Given the description of an element on the screen output the (x, y) to click on. 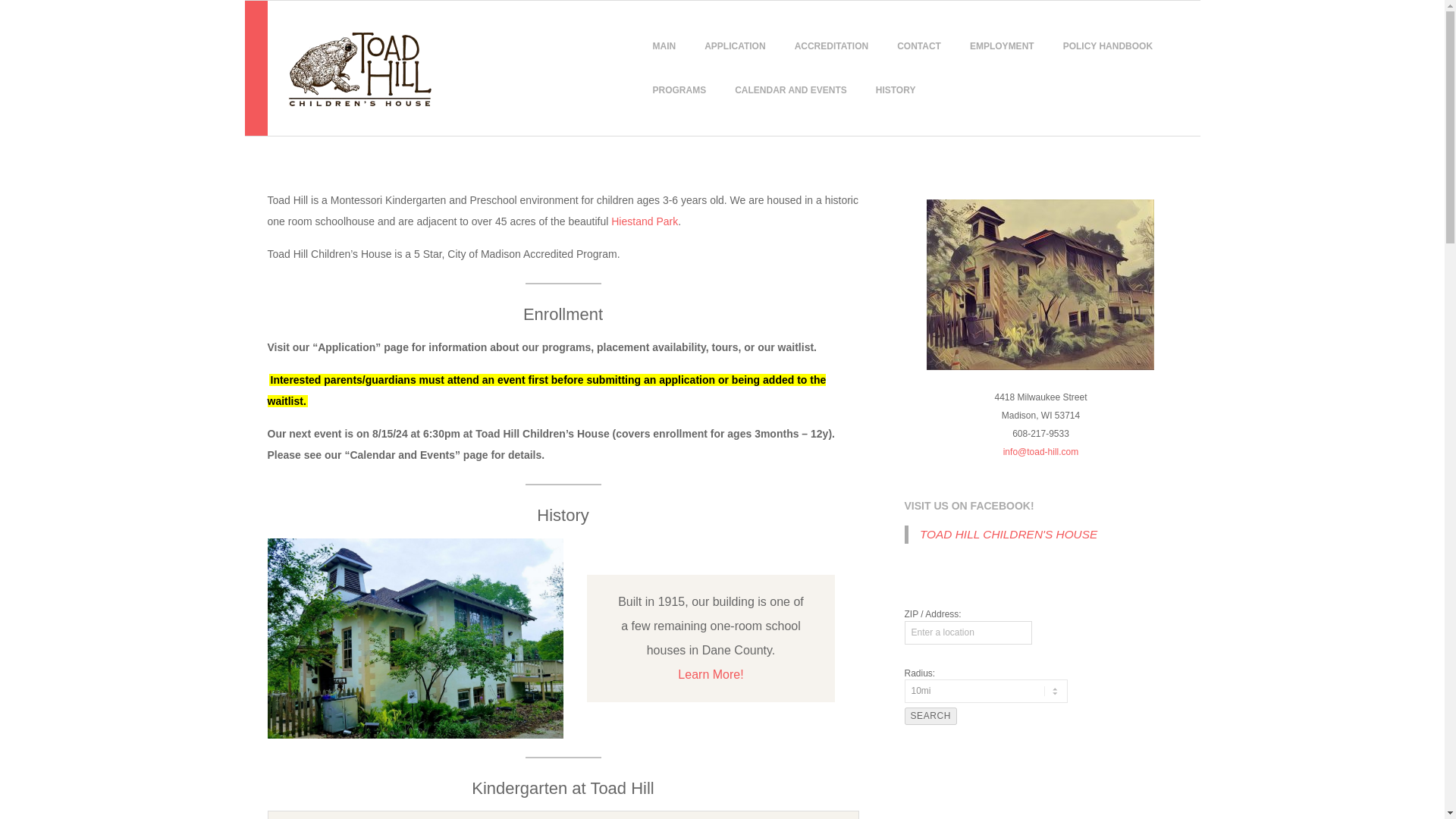
Hiestand Park (644, 221)
TOAD HILL CHILDREN'S HOUSE (1008, 533)
PROGRAMS (679, 89)
CONTACT (919, 45)
POLICY HANDBOOK (1107, 45)
Learn More! (710, 674)
Search (930, 715)
CALENDAR AND EVENTS (790, 89)
HISTORY (895, 89)
MAIN (663, 45)
APPLICATION (735, 45)
EMPLOYMENT (1002, 45)
Search (930, 715)
ACCREDITATION (831, 45)
